Given the description of an element on the screen output the (x, y) to click on. 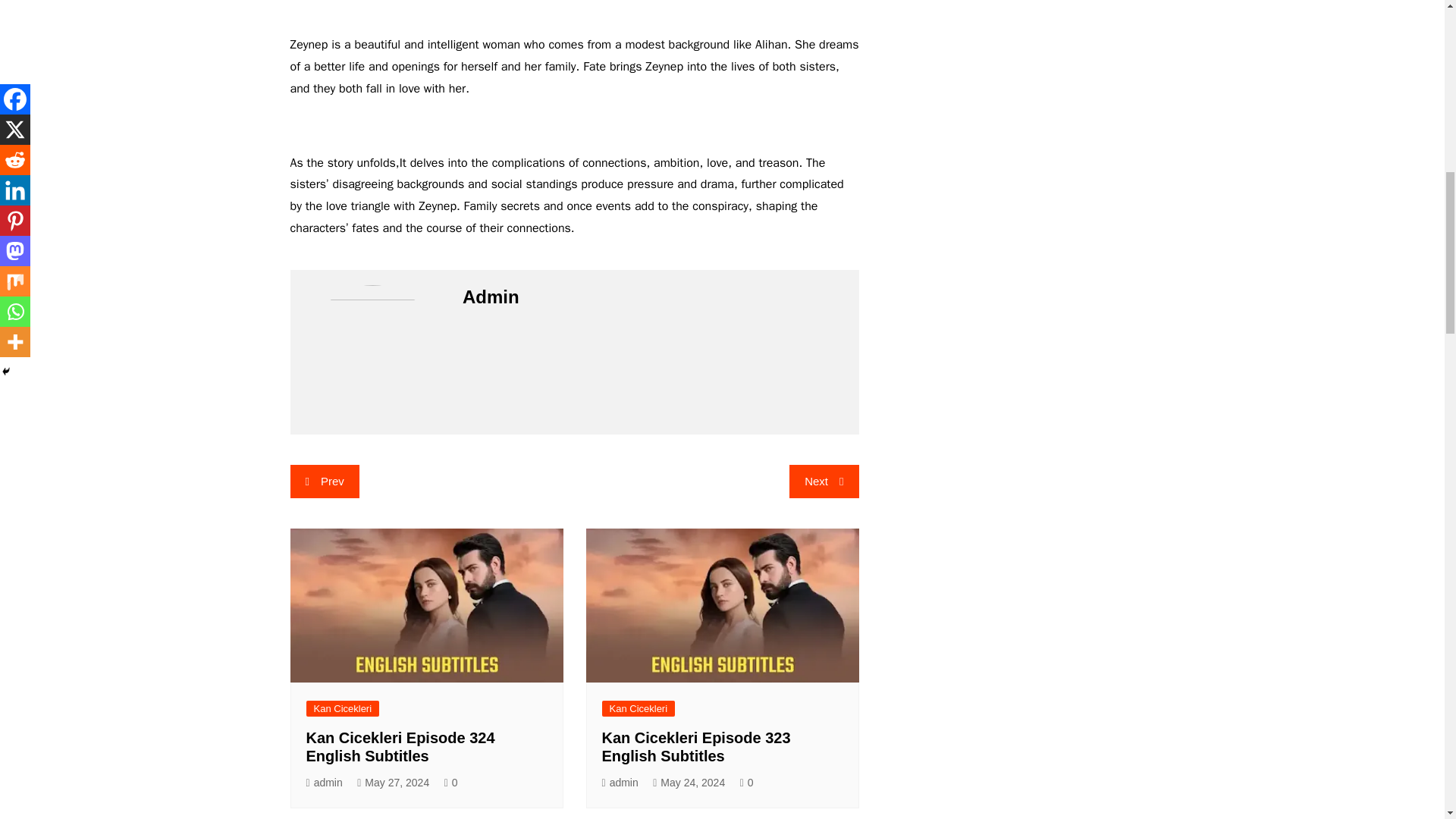
Kan Cicekleri (342, 708)
admin (323, 782)
Kan Cicekleri Episode 324 English Subtitles (400, 746)
Next (824, 481)
Prev (323, 481)
